Given the description of an element on the screen output the (x, y) to click on. 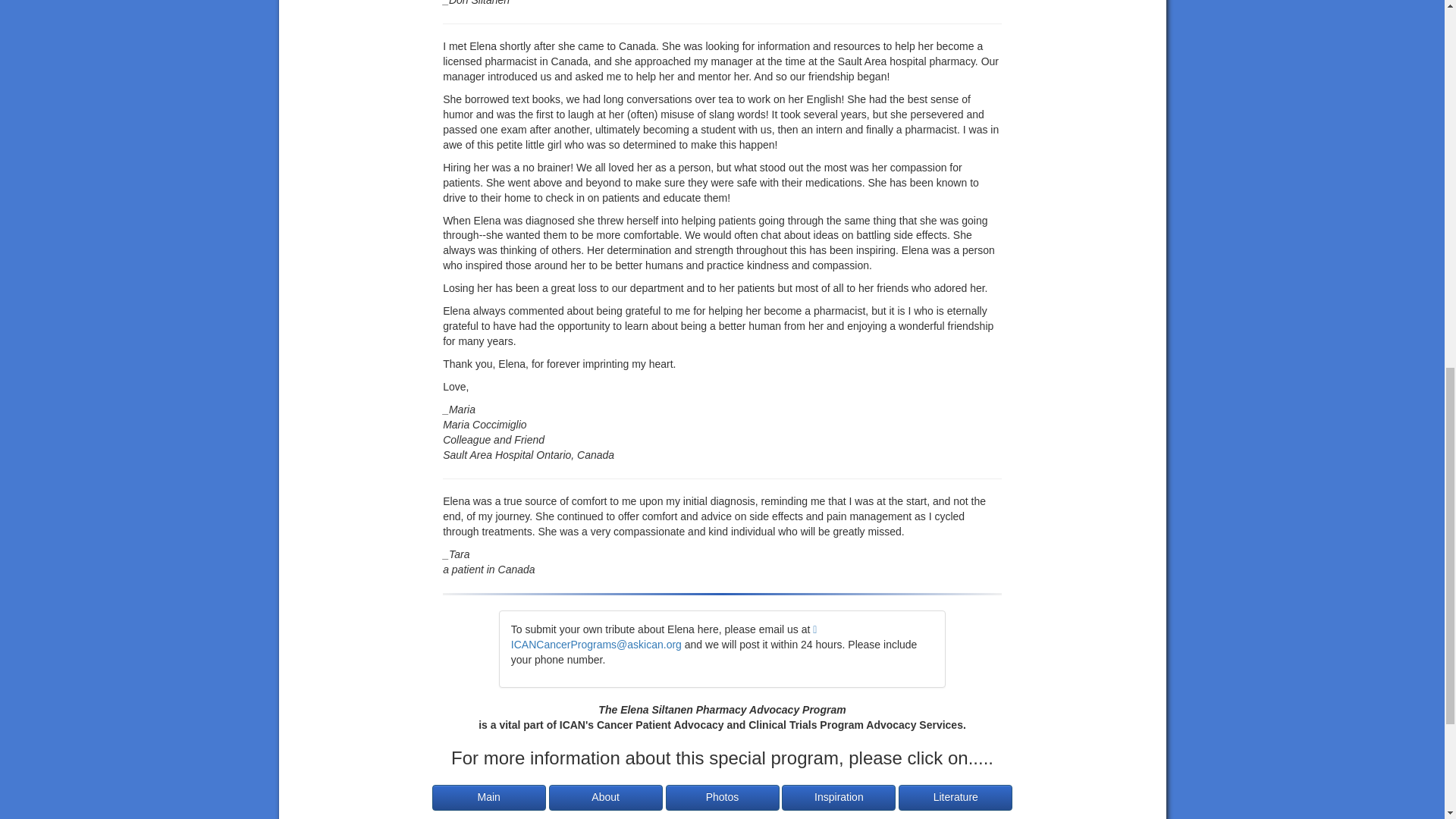
Main (489, 797)
About (605, 797)
Photos (721, 797)
